Given the description of an element on the screen output the (x, y) to click on. 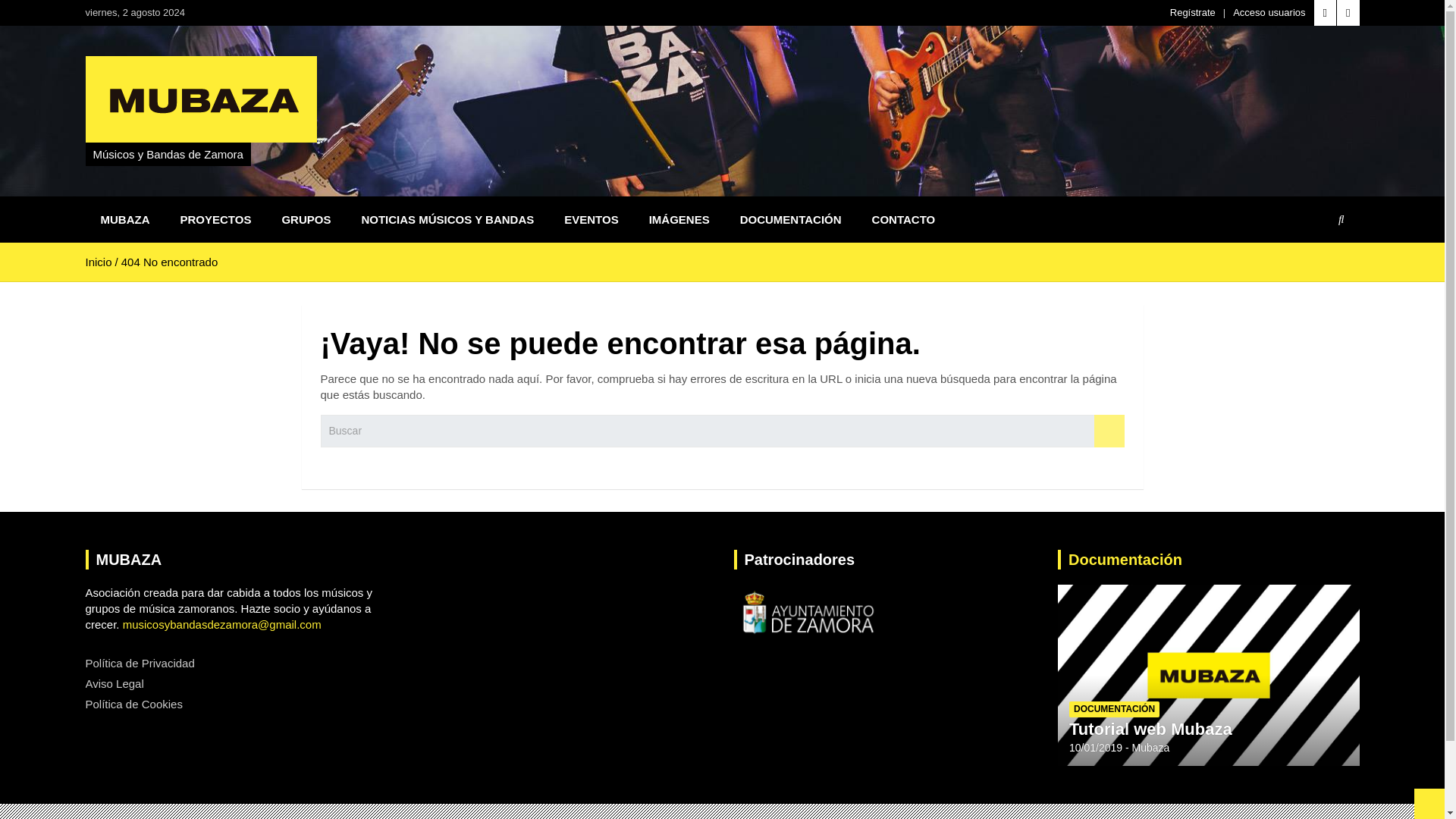
Tutorial web Mubaza (1095, 747)
Acceso usuarios (1268, 12)
CONTACTO (903, 219)
MUBAZA (124, 219)
Buscar (1108, 430)
Tutorial web Mubaza (1149, 728)
EVENTOS (590, 219)
Mubaza (1151, 747)
PROYECTOS (215, 219)
Aviso Legal (113, 683)
Inicio (98, 261)
GRUPOS (306, 219)
